Given the description of an element on the screen output the (x, y) to click on. 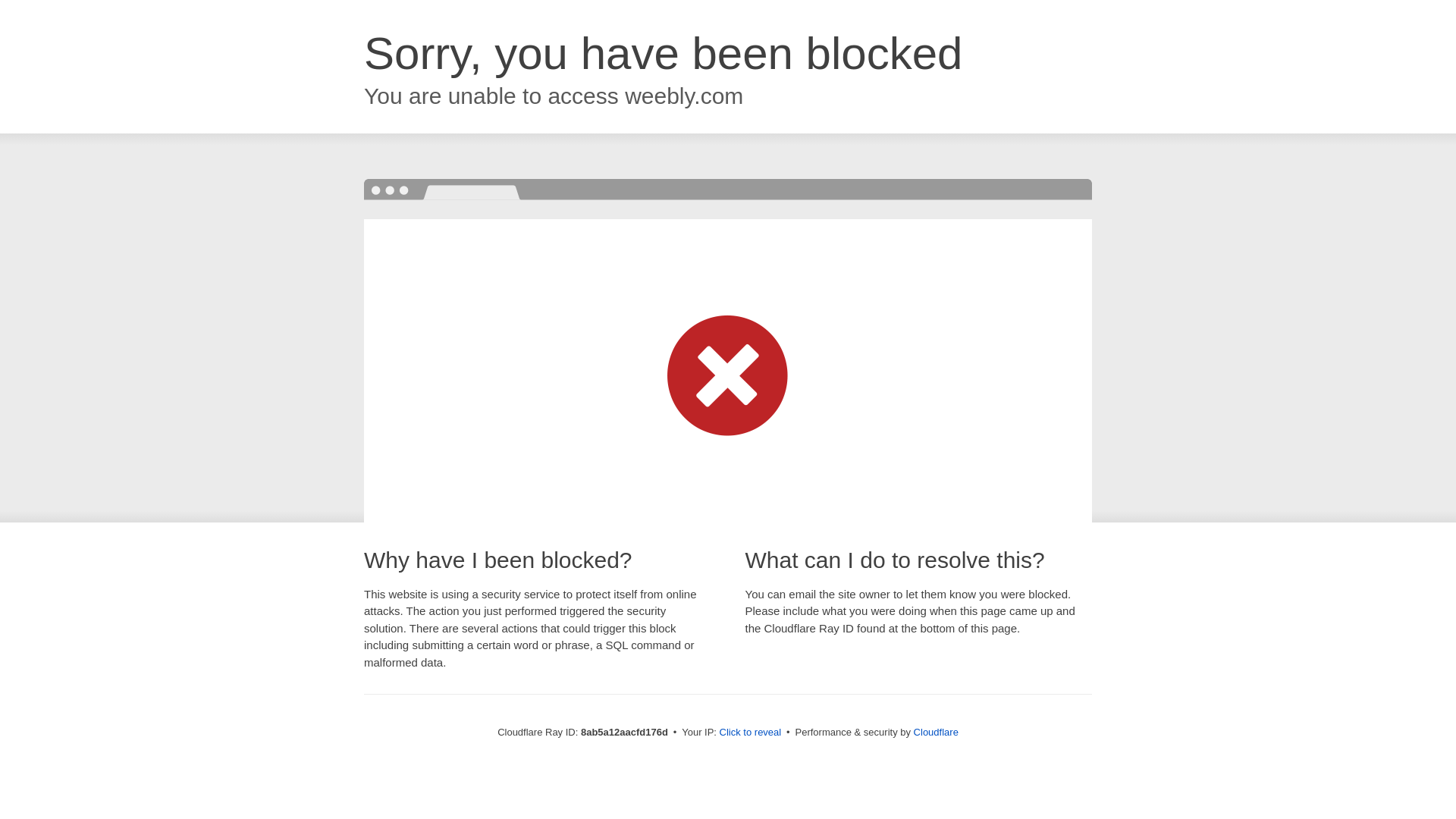
Click to reveal (750, 732)
Cloudflare (936, 731)
